Given the description of an element on the screen output the (x, y) to click on. 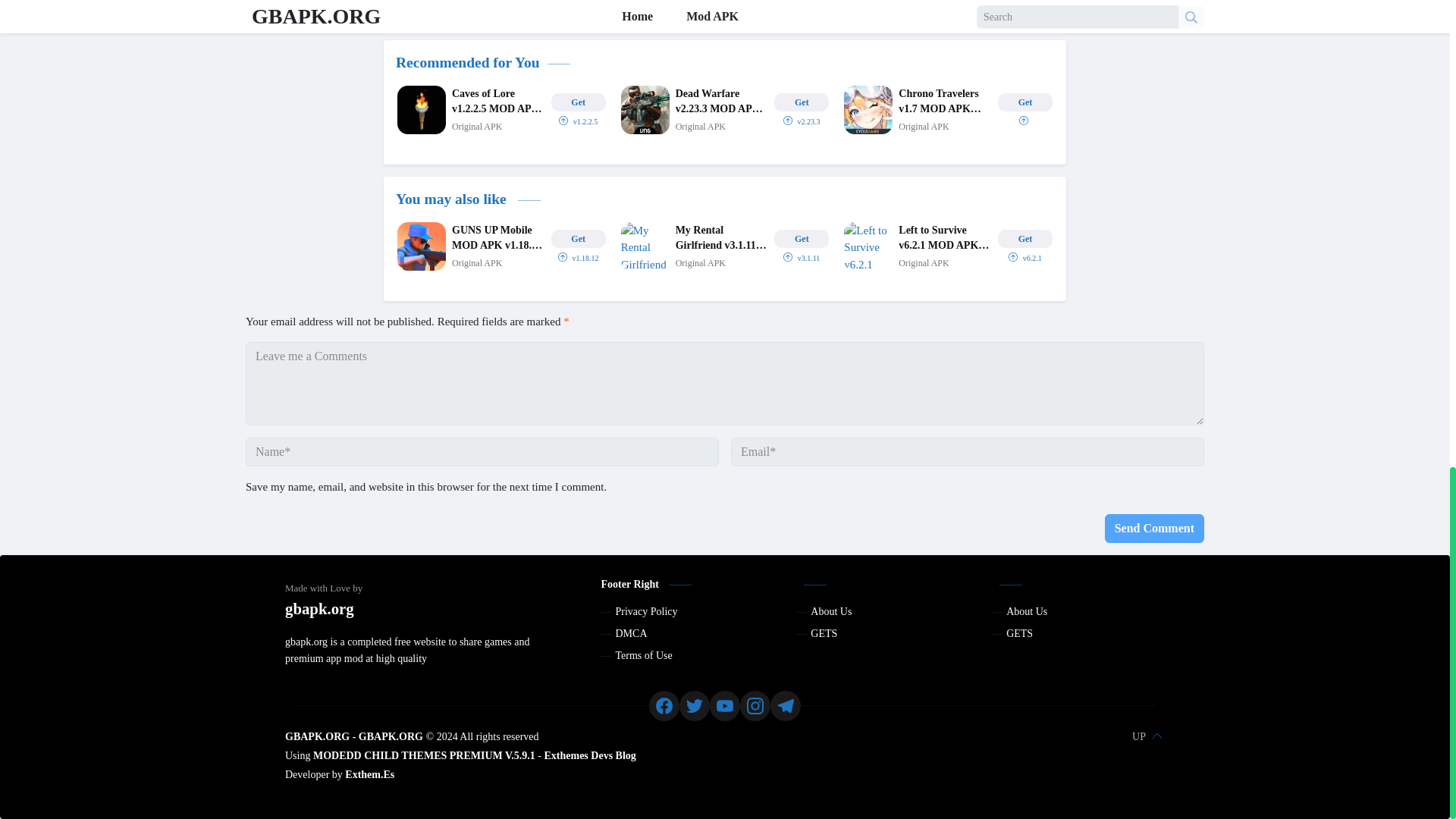
DMCA (631, 633)
GETS (1019, 633)
premium wordpress themes - exthem.es (369, 774)
About Us (1026, 611)
GETS (823, 633)
About Us (830, 611)
Terms of Use (643, 655)
Privacy Policy (646, 611)
Exthemes Devs Blog (588, 755)
Send Comment (1154, 528)
